Given the description of an element on the screen output the (x, y) to click on. 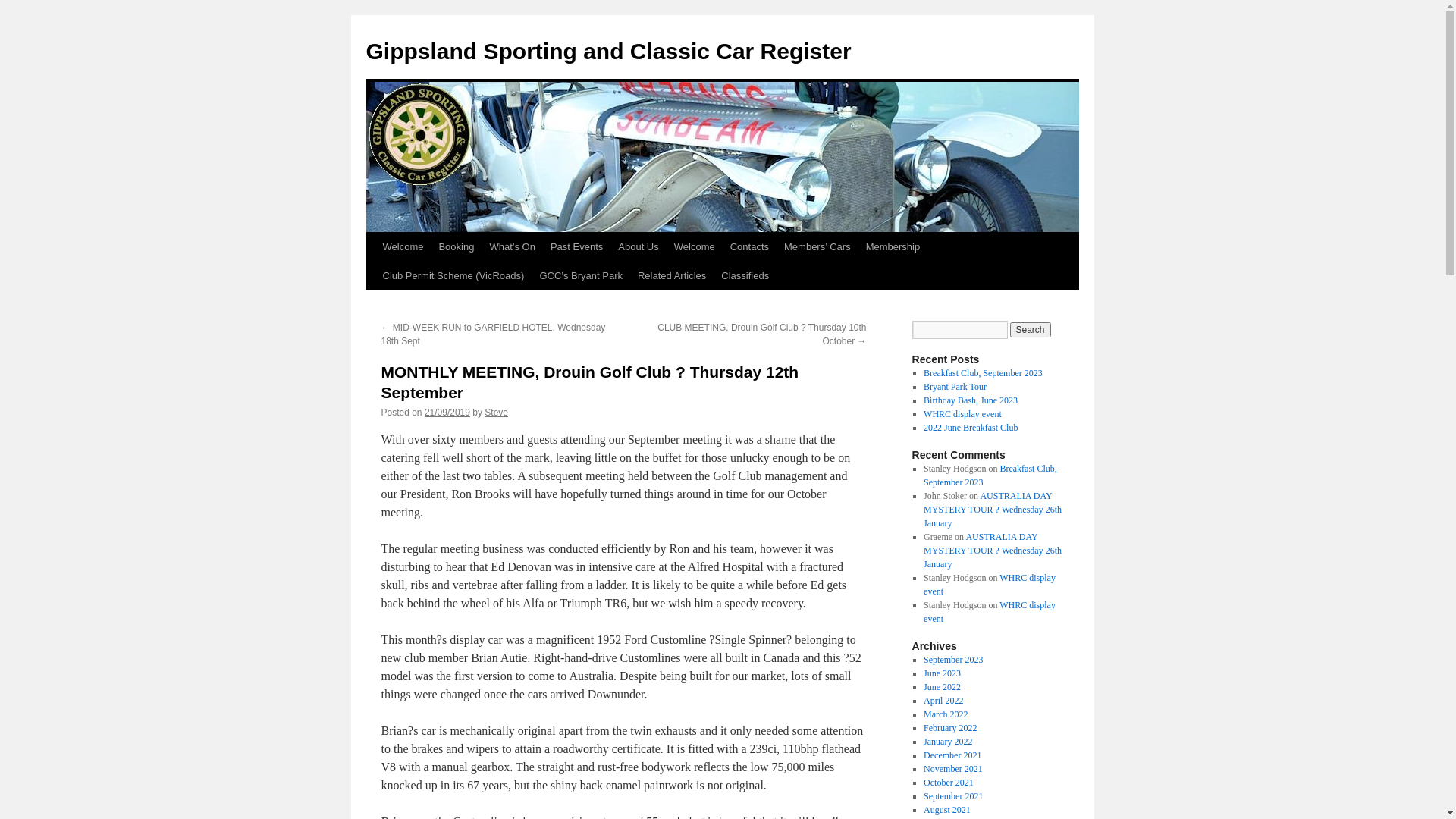
Breakfast Club, September 2023 Element type: text (990, 475)
21/09/2019 Element type: text (447, 412)
Membership Element type: text (893, 246)
October 2021 Element type: text (948, 782)
2022 June Breakfast Club Element type: text (970, 427)
September 2023 Element type: text (952, 659)
Related Articles Element type: text (671, 275)
Breakfast Club, September 2023 Element type: text (982, 372)
April 2022 Element type: text (943, 700)
November 2021 Element type: text (952, 768)
March 2022 Element type: text (945, 714)
Birthday Bash, June 2023 Element type: text (970, 400)
June 2022 Element type: text (941, 686)
Booking Element type: text (455, 246)
Contacts Element type: text (749, 246)
AUSTRALIA DAY MYSTERY TOUR ? Wednesday 26th January Element type: text (992, 550)
About Us Element type: text (637, 246)
Bryant Park Tour Element type: text (954, 386)
Search Element type: text (1030, 329)
Skip to content Element type: text (372, 275)
Past Events Element type: text (576, 246)
Welcome Element type: text (402, 246)
Club Permit Scheme (VicRoads) Element type: text (452, 275)
Steve Element type: text (496, 412)
Gippsland Sporting and Classic Car Register Element type: text (607, 50)
February 2022 Element type: text (949, 727)
August 2021 Element type: text (946, 809)
WHRC display event Element type: text (989, 611)
September 2021 Element type: text (952, 795)
June 2023 Element type: text (941, 673)
WHRC display event Element type: text (989, 584)
AUSTRALIA DAY MYSTERY TOUR ? Wednesday 26th January Element type: text (992, 509)
Classifieds Element type: text (744, 275)
WHRC display event Element type: text (962, 413)
Welcome Element type: text (694, 246)
December 2021 Element type: text (952, 754)
January 2022 Element type: text (947, 741)
